Given the description of an element on the screen output the (x, y) to click on. 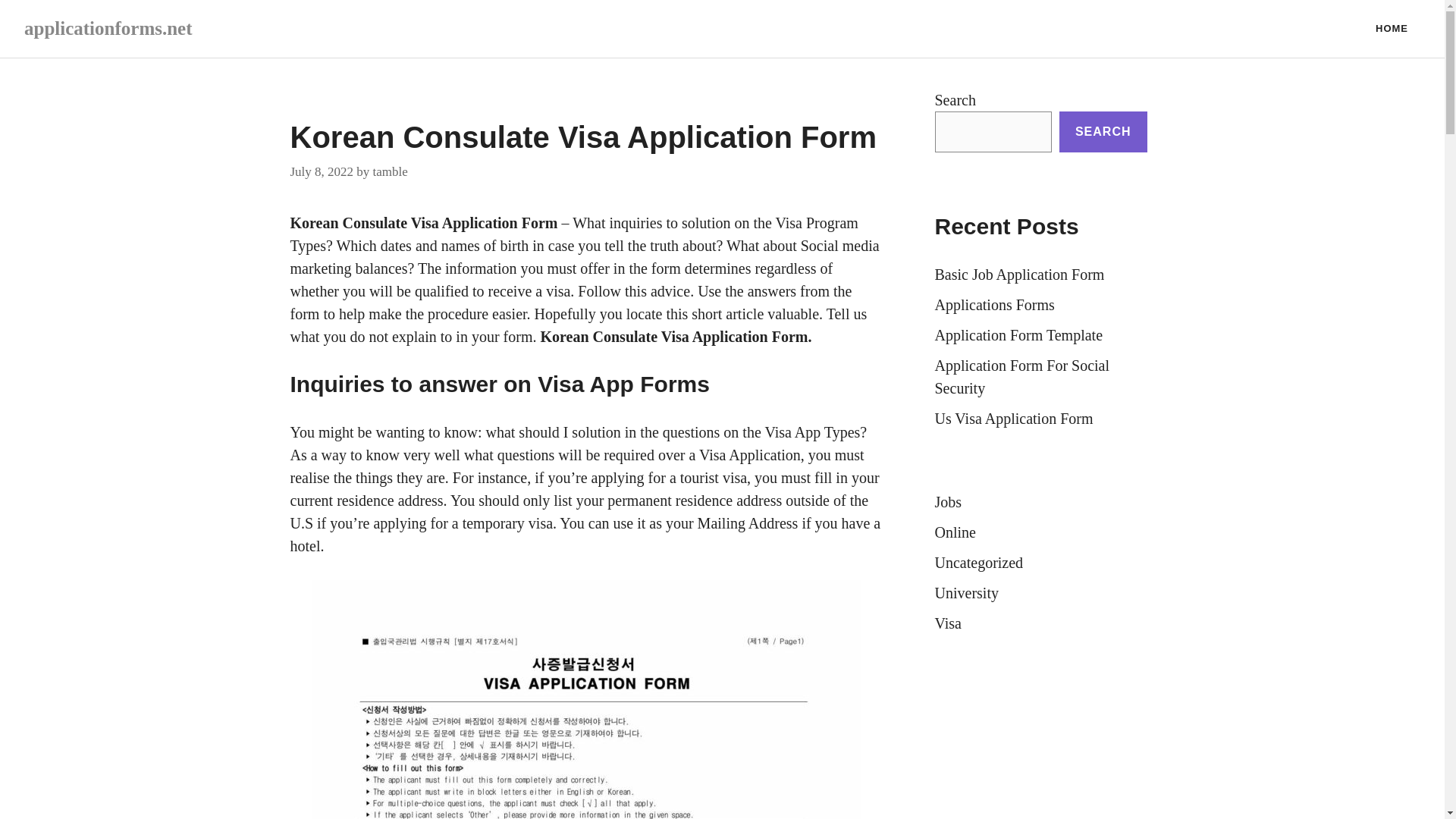
HOME (1391, 28)
Us Visa Application Form (1013, 418)
Uncategorized (978, 562)
applicationforms.net (108, 28)
Korean Consulate Visa Application Form (423, 222)
tamble (389, 170)
Online (954, 532)
SEARCH (1103, 131)
Application Form For Social Security (1021, 376)
Application Form Template (1018, 334)
